Given the description of an element on the screen output the (x, y) to click on. 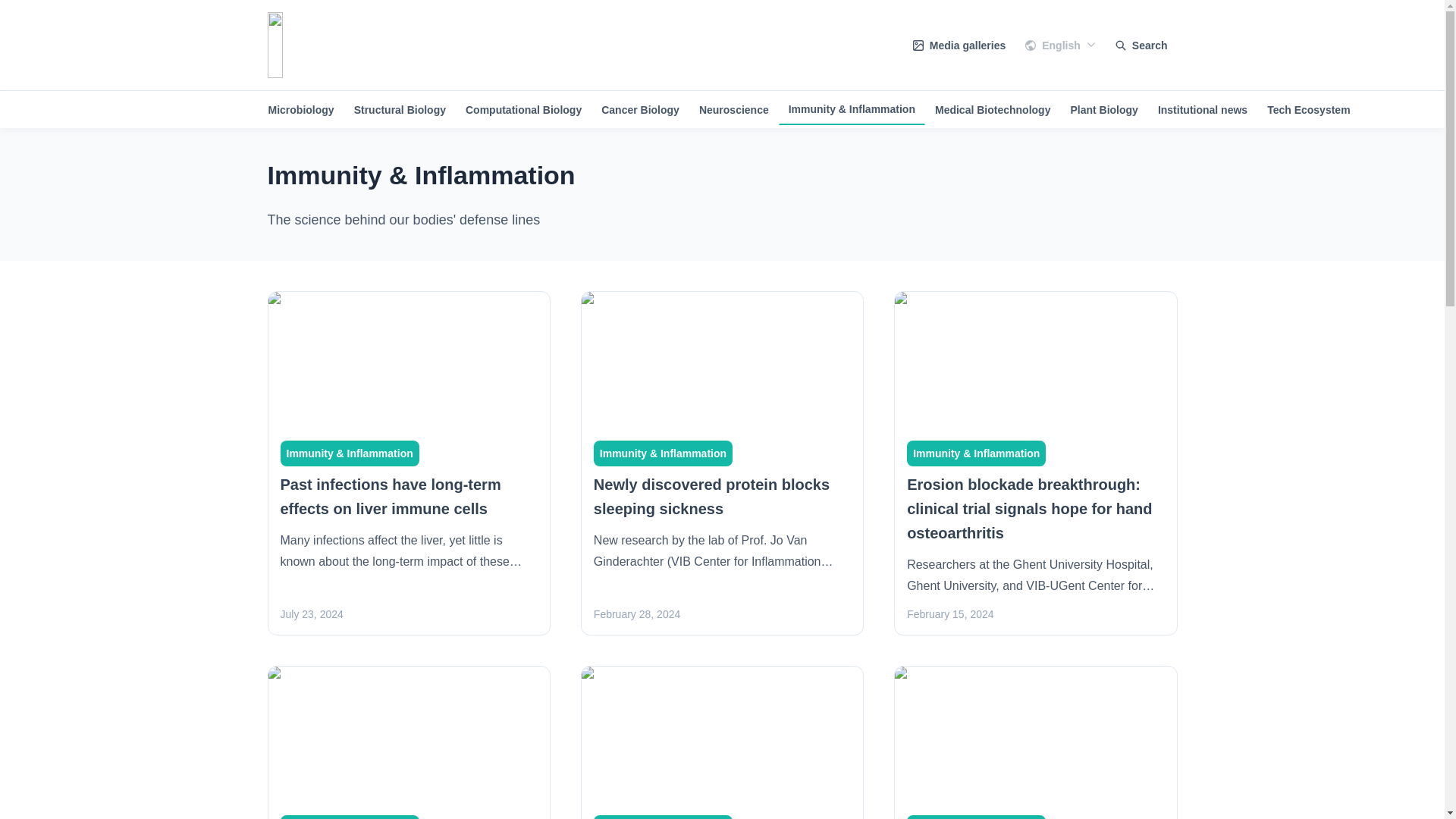
English (1059, 45)
Medical Biotechnology (991, 110)
Cancer Biology (639, 110)
Plant Biology (1103, 110)
Media galleries (958, 45)
Structural Biology (399, 110)
Computational Biology (523, 110)
Newly discovered protein blocks sleeping sickness  (711, 495)
Neuroscience (733, 110)
Tech Ecosystem (1308, 110)
VIB (327, 44)
Search (1141, 45)
Search (1141, 45)
Microbiology (300, 110)
